Given the description of an element on the screen output the (x, y) to click on. 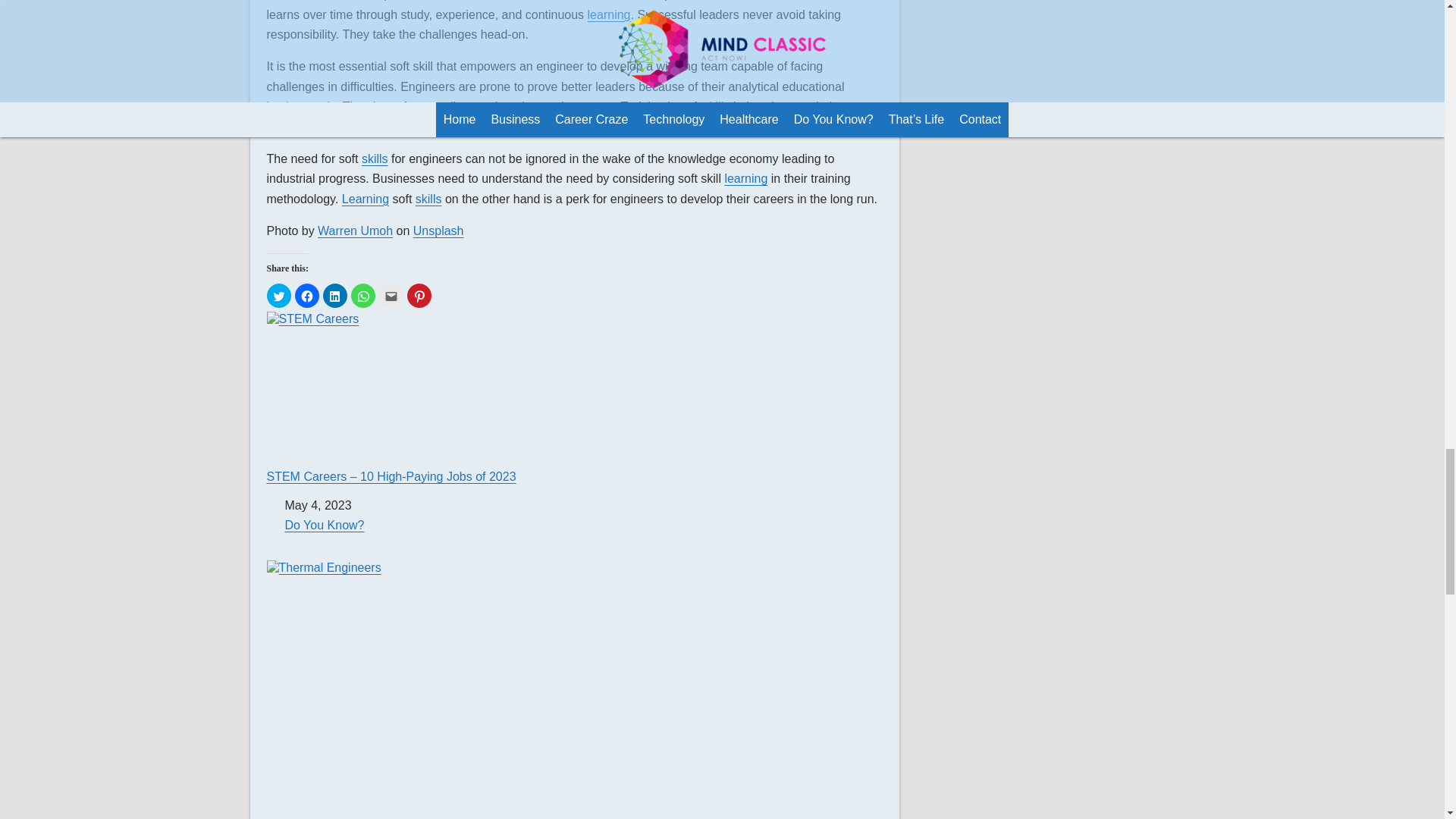
Click to share on Twitter (278, 295)
Click to share on LinkedIn (335, 295)
Click to share on Email (390, 295)
Click to share on Pinterest (418, 295)
Click to share on WhatsApp (362, 295)
Click to share on Facebook (306, 295)
